Given the description of an element on the screen output the (x, y) to click on. 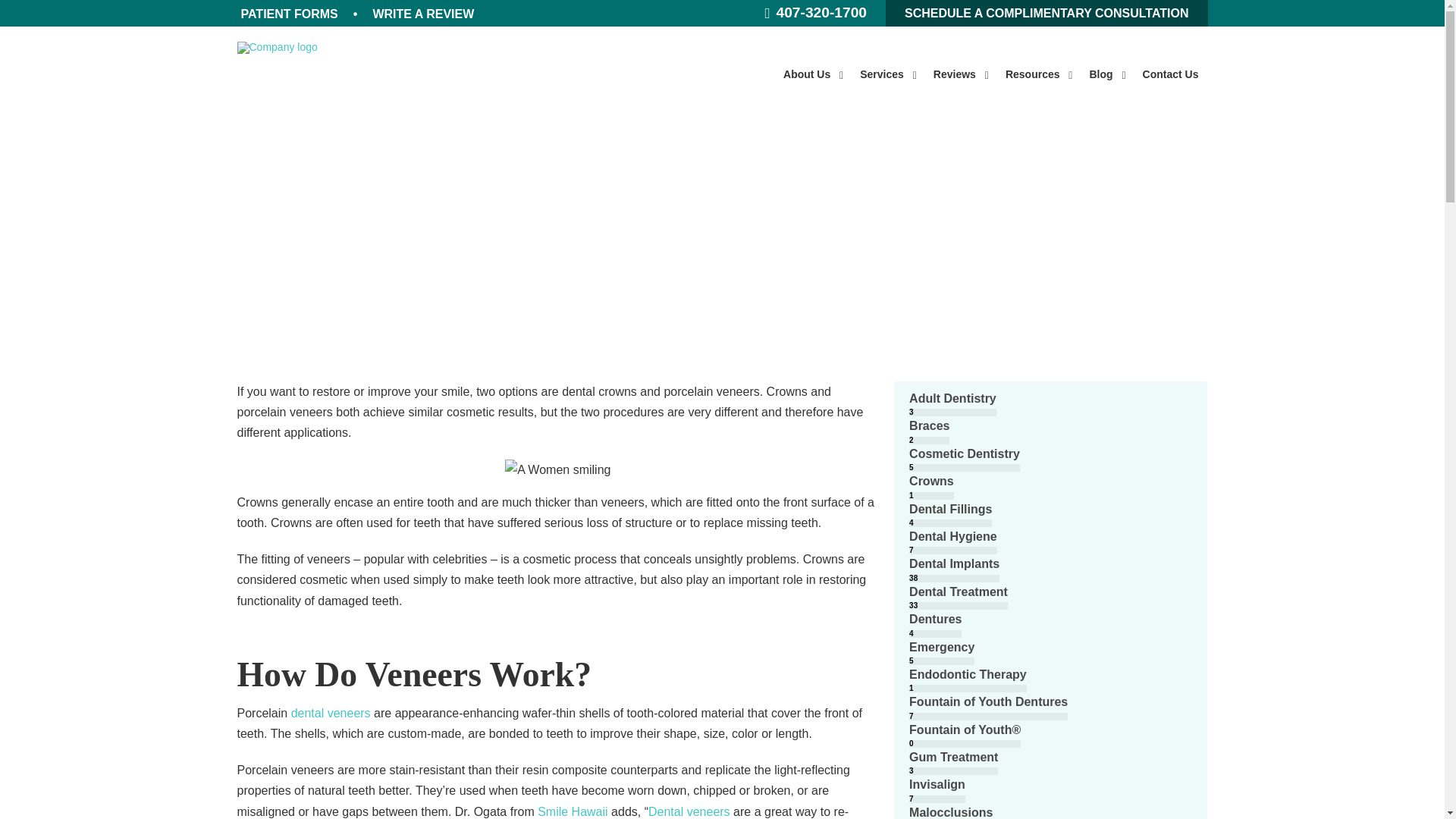
WRITE A REVIEW (422, 14)
About Us (812, 74)
SCHEDULE A COMPLIMENTARY CONSULTATION (1046, 13)
PATIENT FORMS (287, 14)
407-320-1700 (815, 13)
Services (990, 74)
Reviews (887, 74)
